Given the description of an element on the screen output the (x, y) to click on. 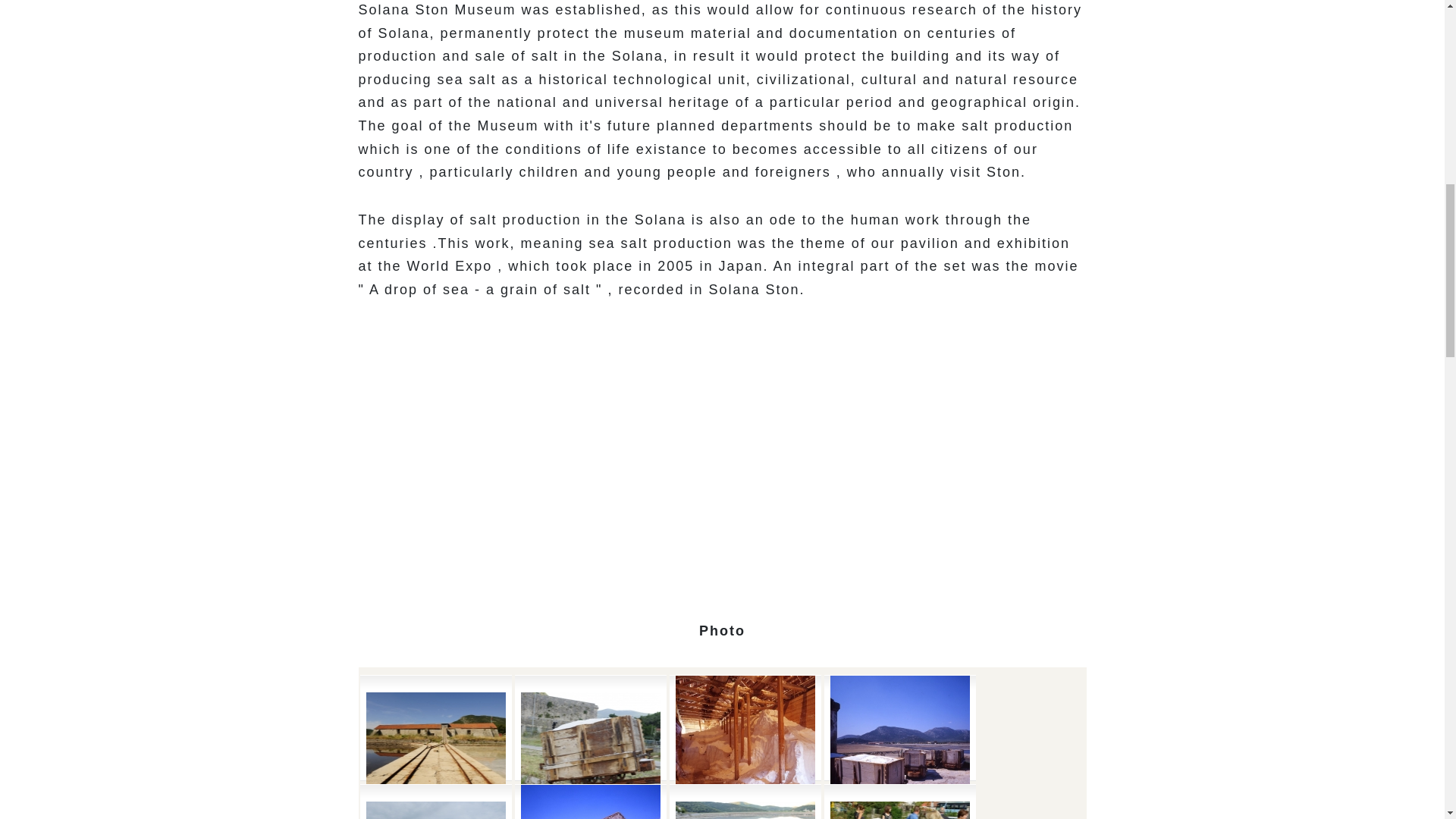
Click to enlarge image 29.jpg (744, 744)
JoomlaWorks AllVideos Player (722, 458)
Click to enlarge image 13.jpg (899, 801)
Click to enlarge image 1.jpg (744, 801)
Click to enlarge image 4.jpg (589, 744)
Click to enlarge image 9.jpg (435, 801)
Click to enlarge image 39.jpg (589, 801)
Click to enlarge image 5.jpg (435, 744)
Click to enlarge image 37.jpg (899, 744)
